Given the description of an element on the screen output the (x, y) to click on. 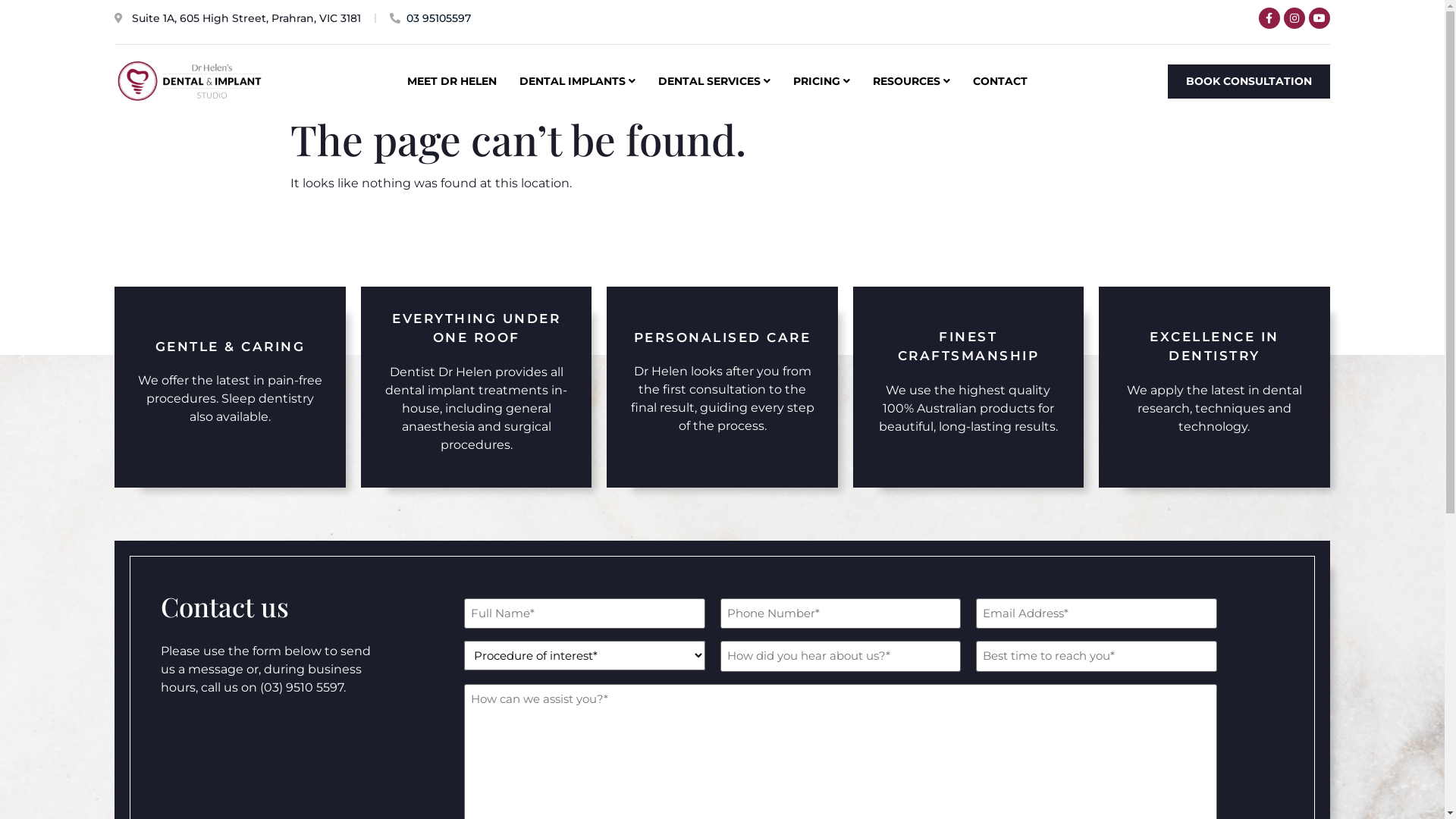
CONTACT Element type: text (999, 80)
03 95105597 Element type: text (430, 18)
BOOK CONSULTATION Element type: text (1248, 80)
MEET DR HELEN Element type: text (450, 80)
DENTAL IMPLANTS Element type: text (576, 80)
RESOURCES Element type: text (910, 80)
DENTAL SERVICES Element type: text (714, 80)
PRICING Element type: text (821, 80)
